Given the description of an element on the screen output the (x, y) to click on. 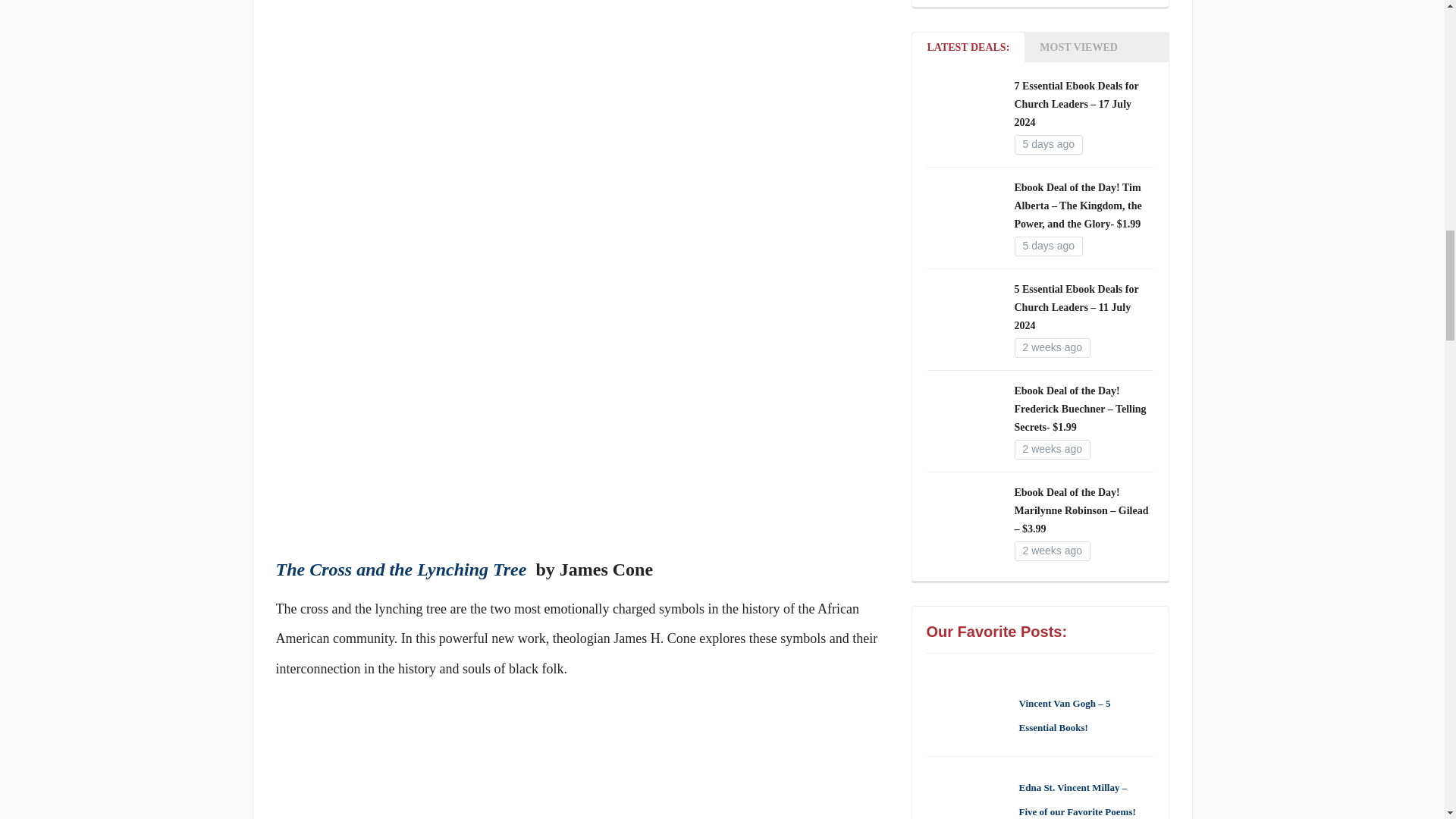
Latest Deals: (968, 47)
The Cross and the Lynching Tree (401, 569)
Most Viewed (1078, 47)
